Given the description of an element on the screen output the (x, y) to click on. 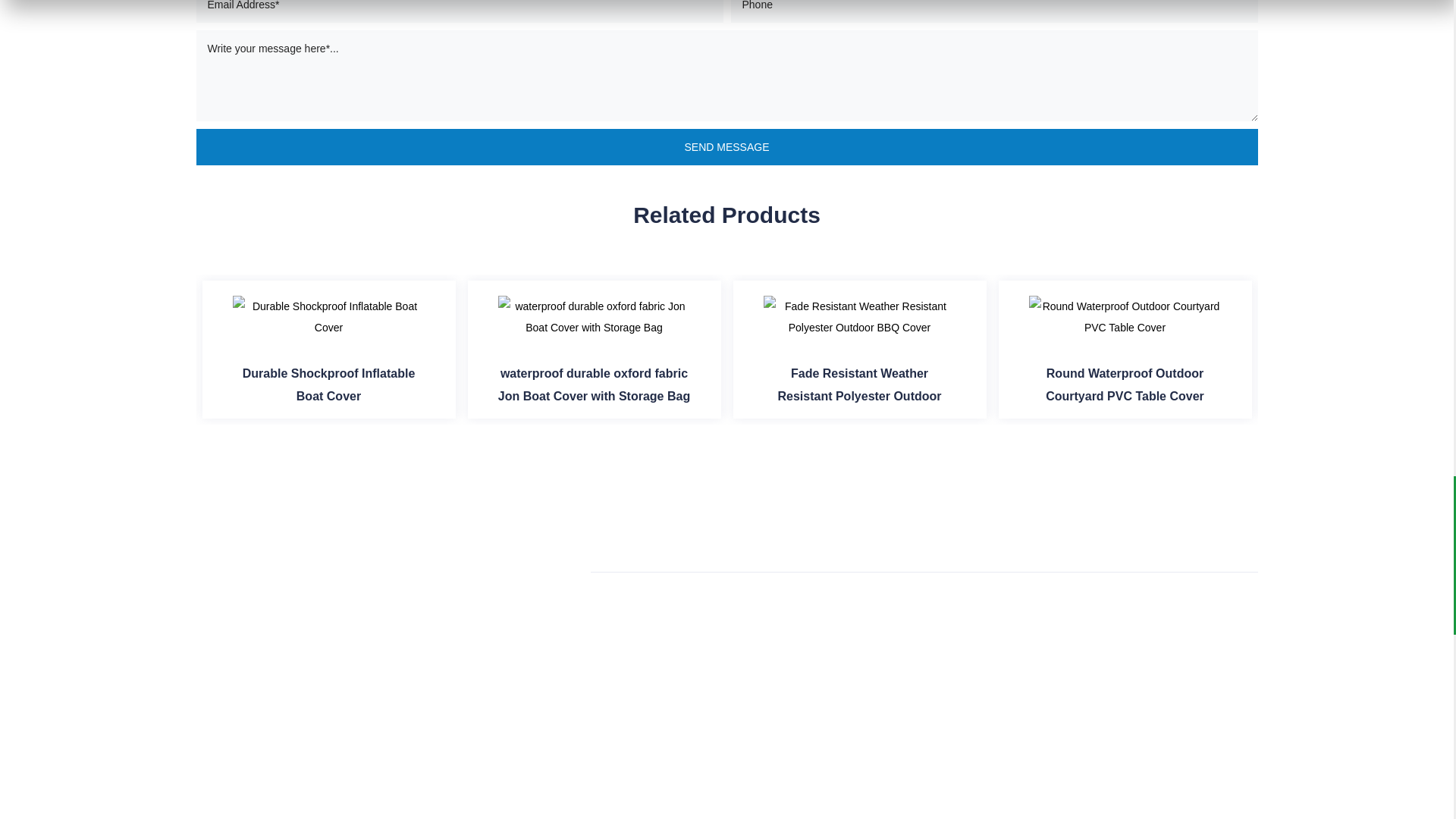
Round Waterproof Outdoor Courtyard PVC Table Cover (1124, 316)
Durable Shockproof Inflatable Boat Cover (328, 316)
Fade Resistant Weather Resistant Polyester Outdoor BBQ Cover (858, 316)
Send Message (726, 146)
